Given the description of an element on the screen output the (x, y) to click on. 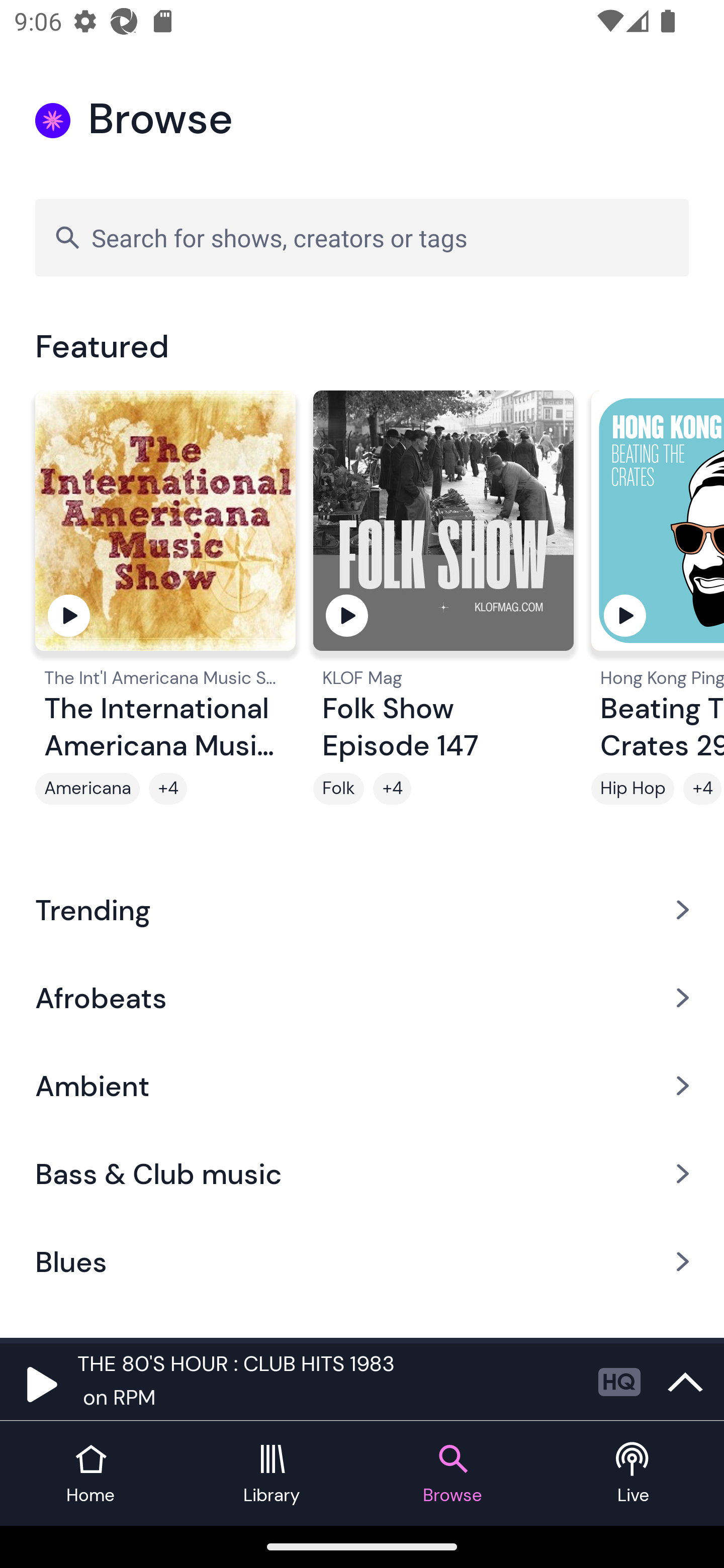
Search for shows, creators or tags (361, 237)
Americana (87, 788)
Folk (338, 788)
Hip Hop (632, 788)
Trending (361, 909)
Afrobeats (361, 997)
Ambient (361, 1085)
Bass & Club music (361, 1174)
Blues (361, 1262)
Home tab Home (90, 1473)
Library tab Library (271, 1473)
Browse tab Browse (452, 1473)
Live tab Live (633, 1473)
